Given the description of an element on the screen output the (x, y) to click on. 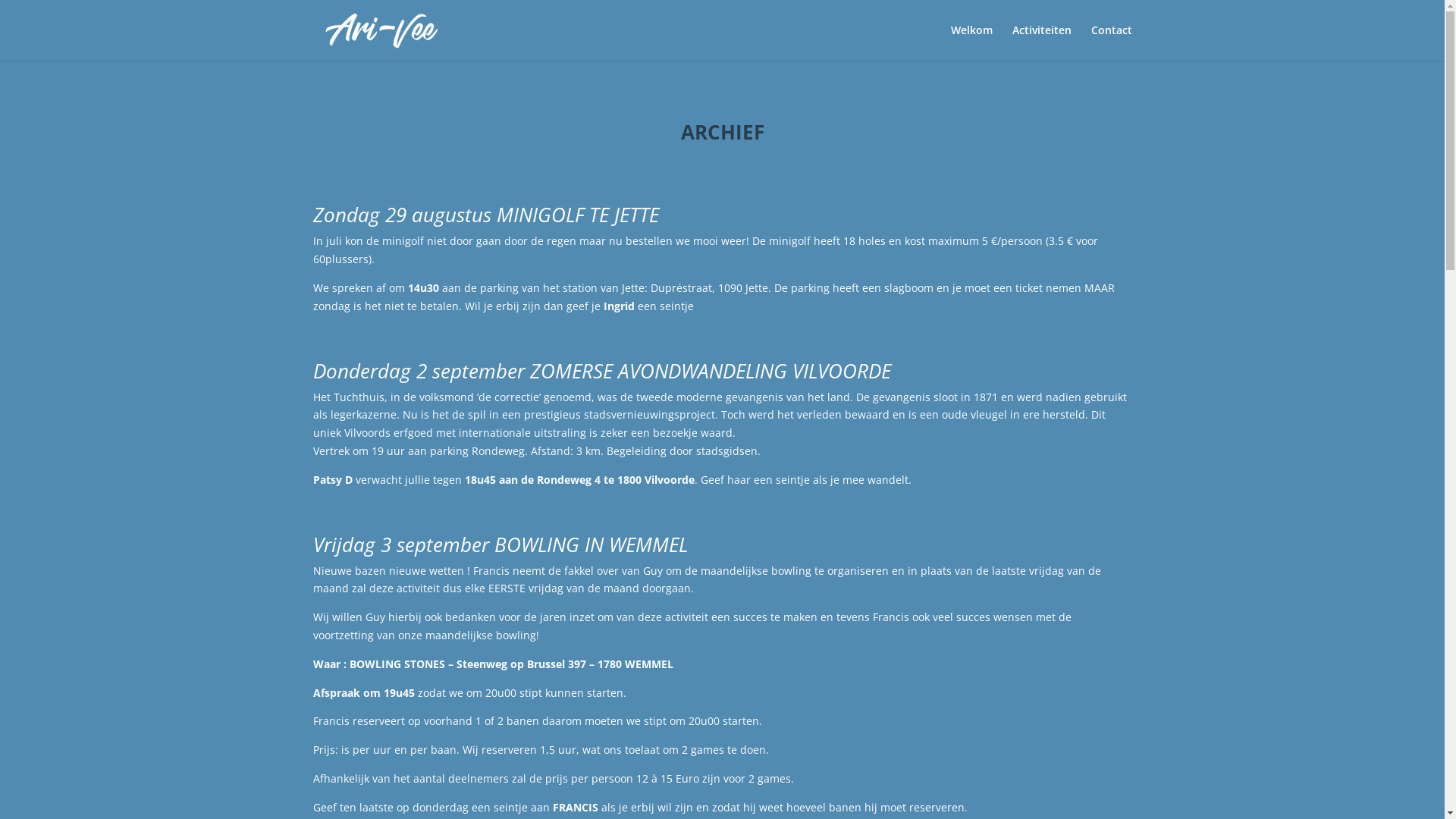
Activiteiten Element type: text (1040, 42)
Zondag 29 augustus MINIGOLF TE JETTE Element type: text (485, 214)
Welkom Element type: text (971, 42)
Vrijdag 3 september BOWLING IN WEMMEL Element type: text (499, 544)
Donderdag 2 september ZOMERSE AVONDWANDELING VILVOORDE Element type: text (601, 370)
Contact Element type: text (1110, 42)
